Given the description of an element on the screen output the (x, y) to click on. 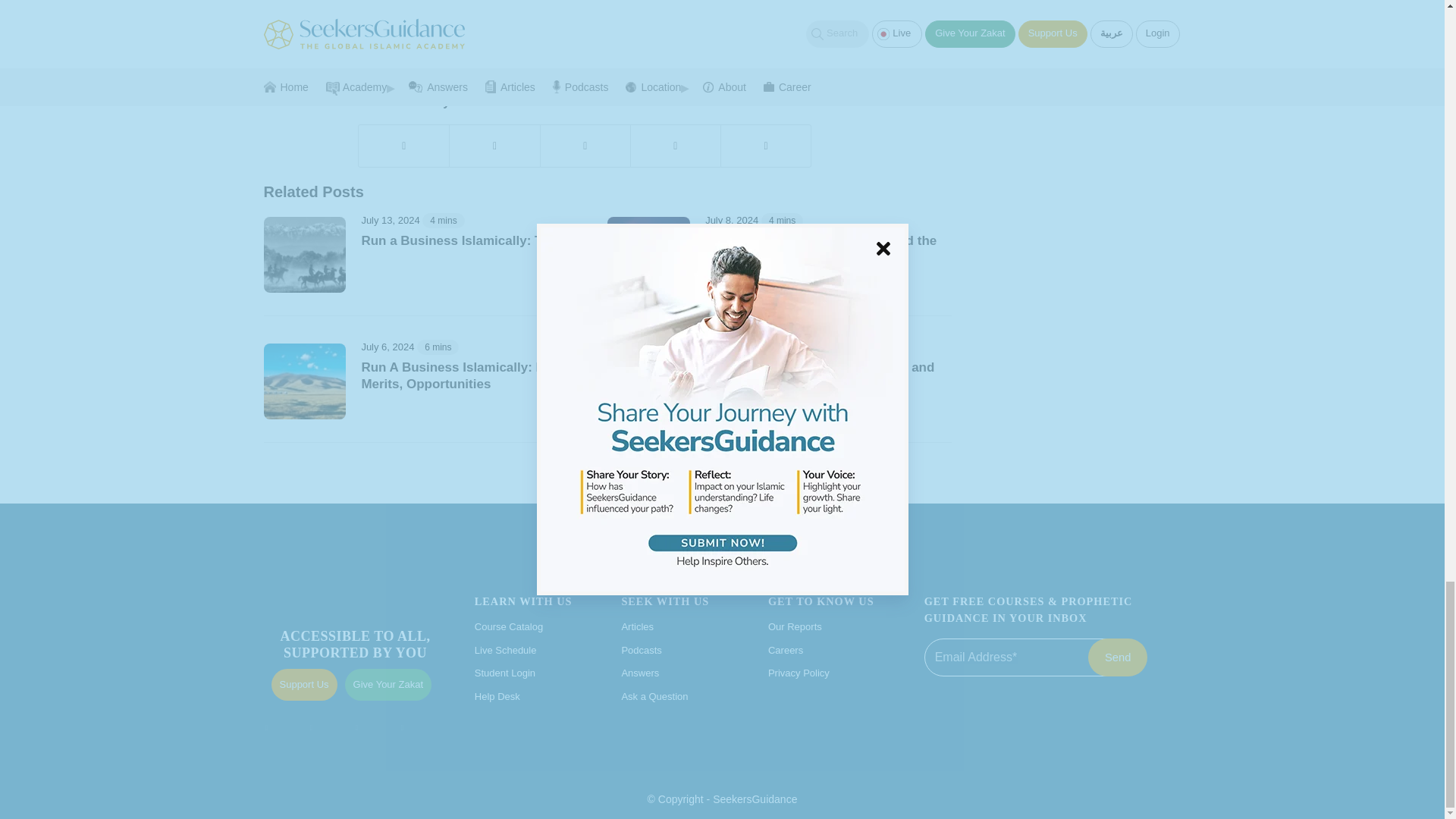
send (1117, 657)
